Given the description of an element on the screen output the (x, y) to click on. 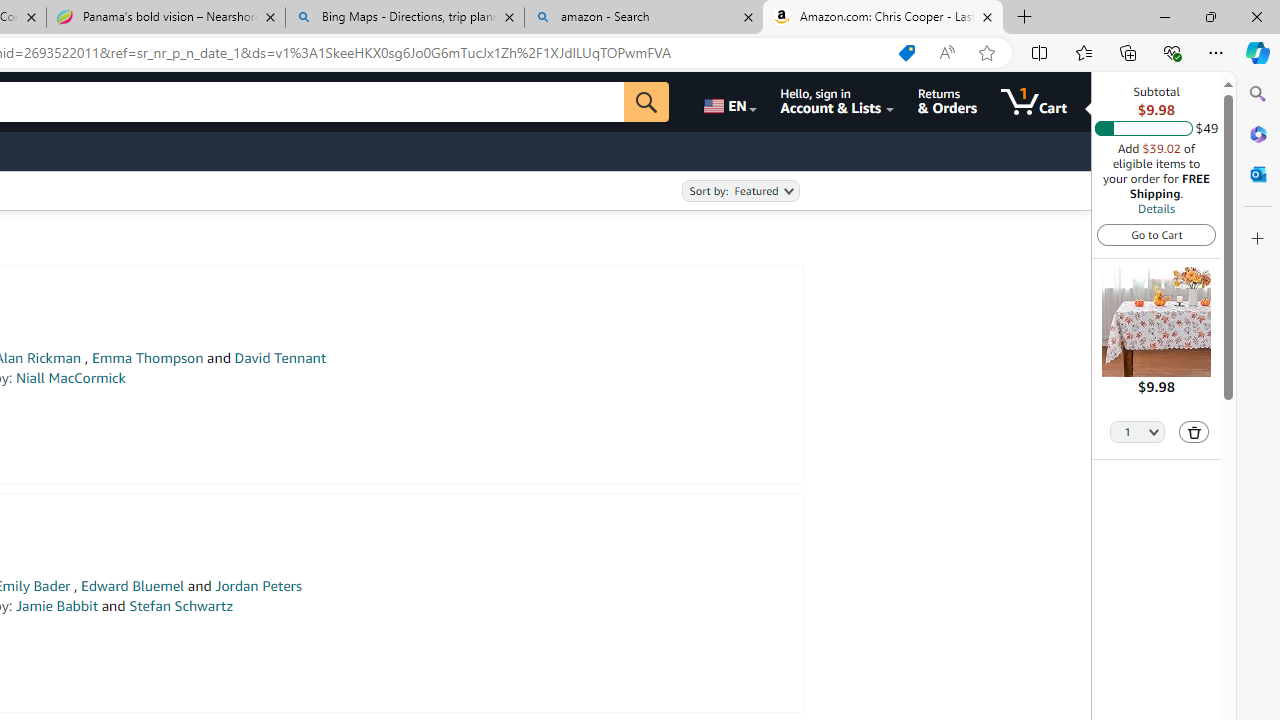
Amazon.com: Chris Cooper - Last 90 Days / Drama: Movies & TV (883, 17)
1 item in cart (1034, 101)
Hello, sign in Account & Lists (836, 101)
Stefan Schwartz (180, 606)
Details (1156, 208)
Returns & Orders (946, 101)
